Given the description of an element on the screen output the (x, y) to click on. 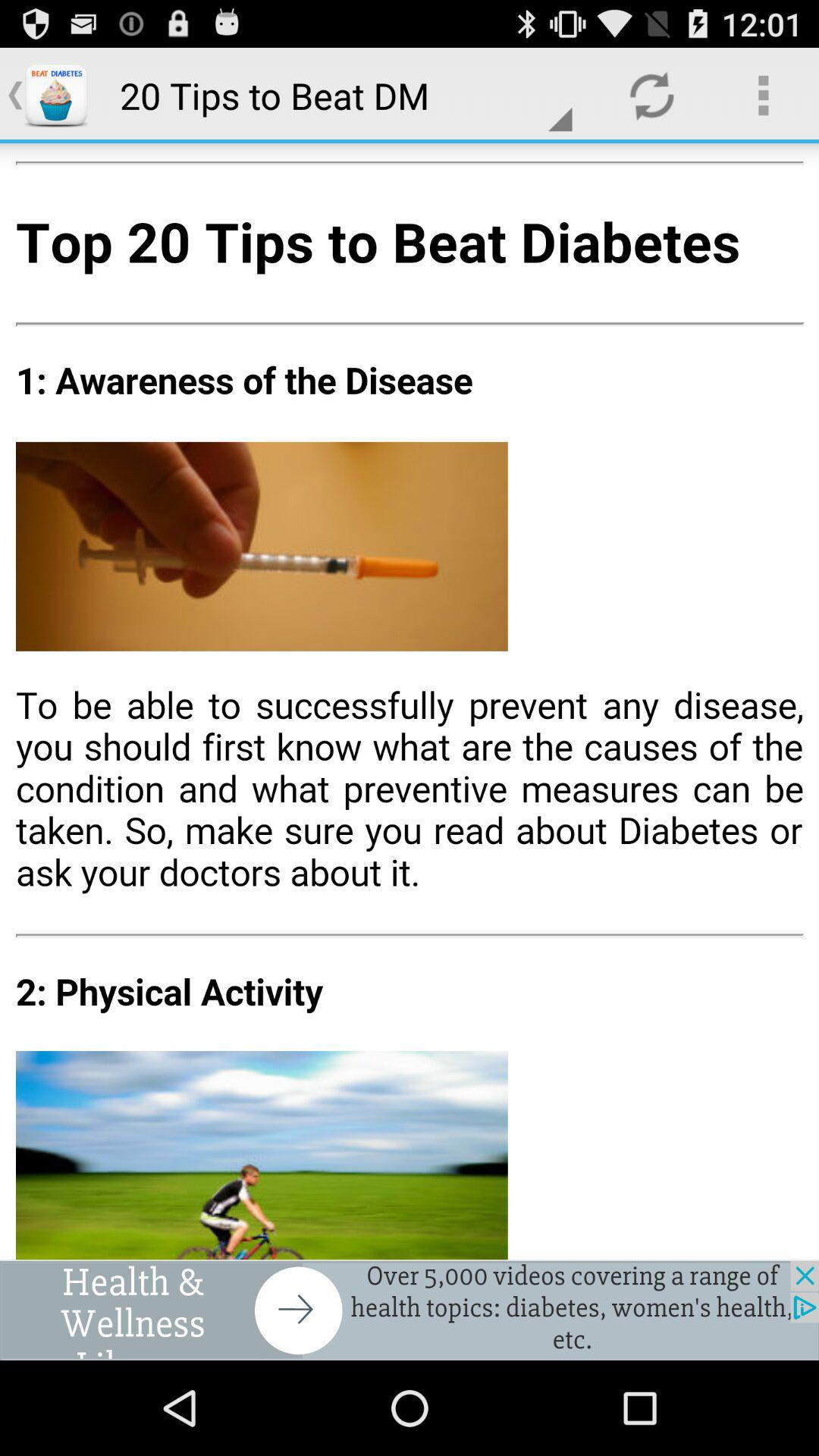
new open option (409, 1310)
